Given the description of an element on the screen output the (x, y) to click on. 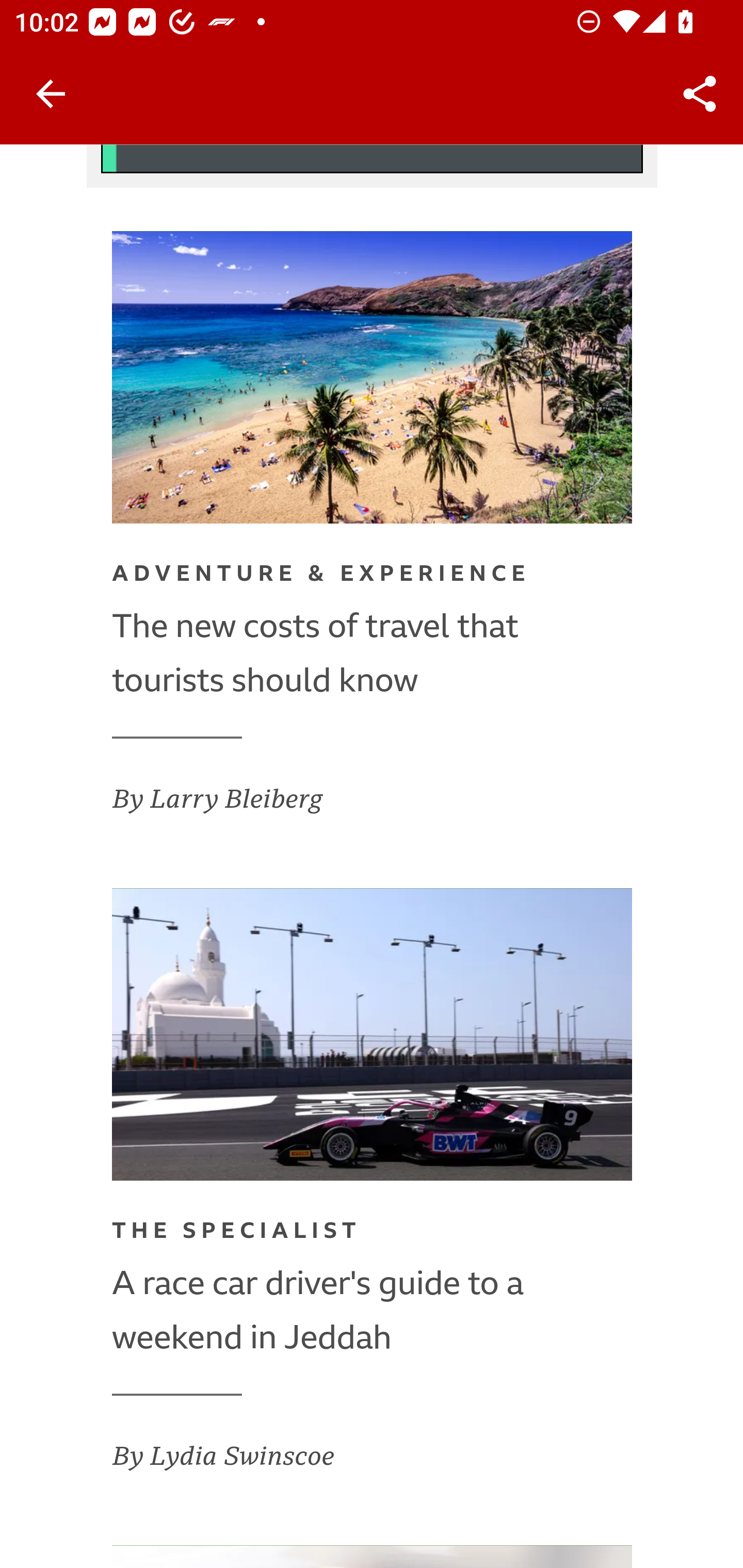
Back (50, 93)
Share (699, 93)
ADVENTURE & EXPERIENCE (321, 577)
The new costs of travel that tourists should know (372, 653)
F1 Jeddah Corniche Circuit (372, 1034)
THE SPECIALIST (237, 1234)
A race car driver's guide to a weekend in Jeddah (372, 1310)
